Given the description of an element on the screen output the (x, y) to click on. 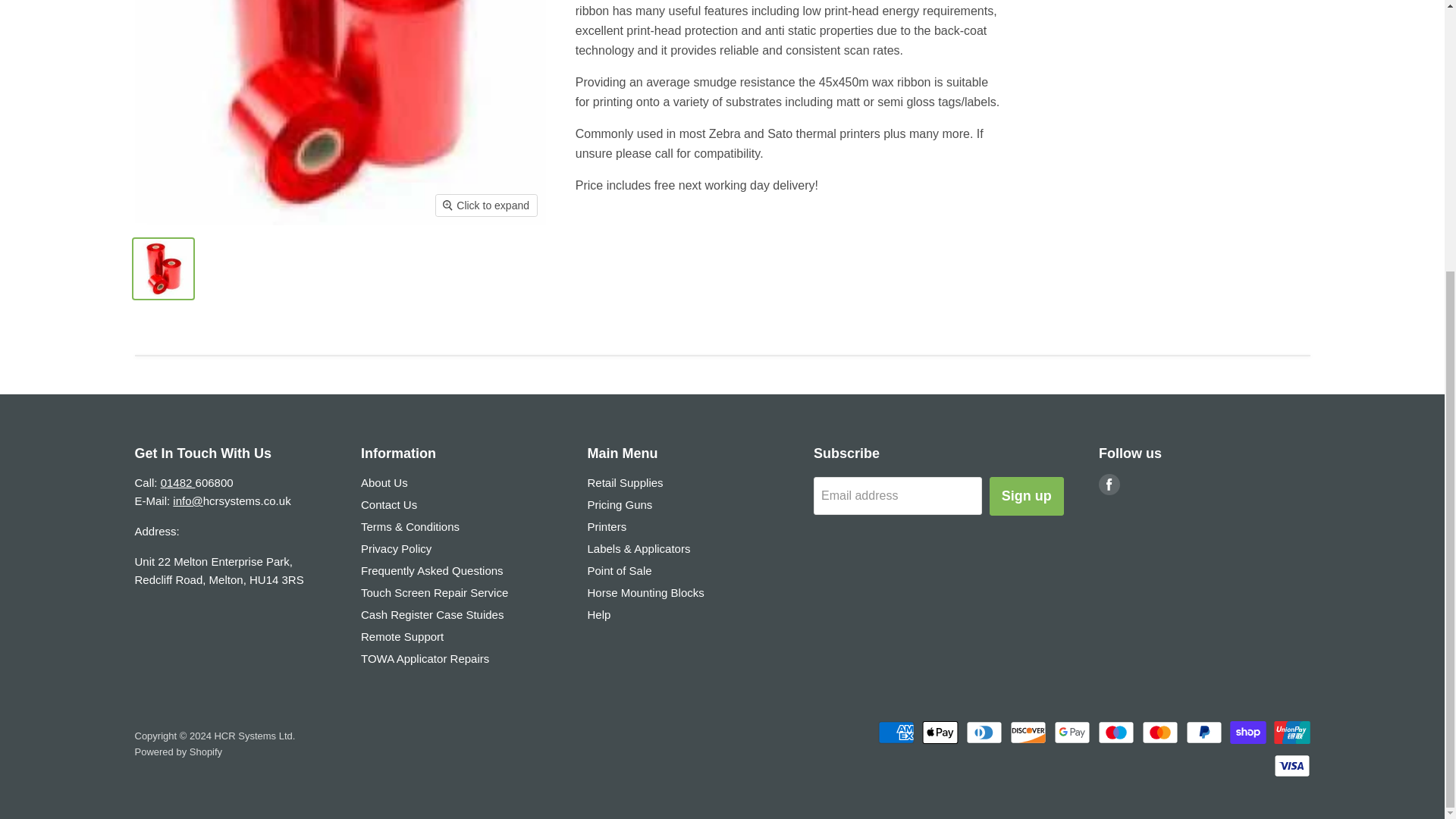
tel:01482 606800 (177, 481)
American Express (895, 732)
Facebook (1109, 483)
